Given the description of an element on the screen output the (x, y) to click on. 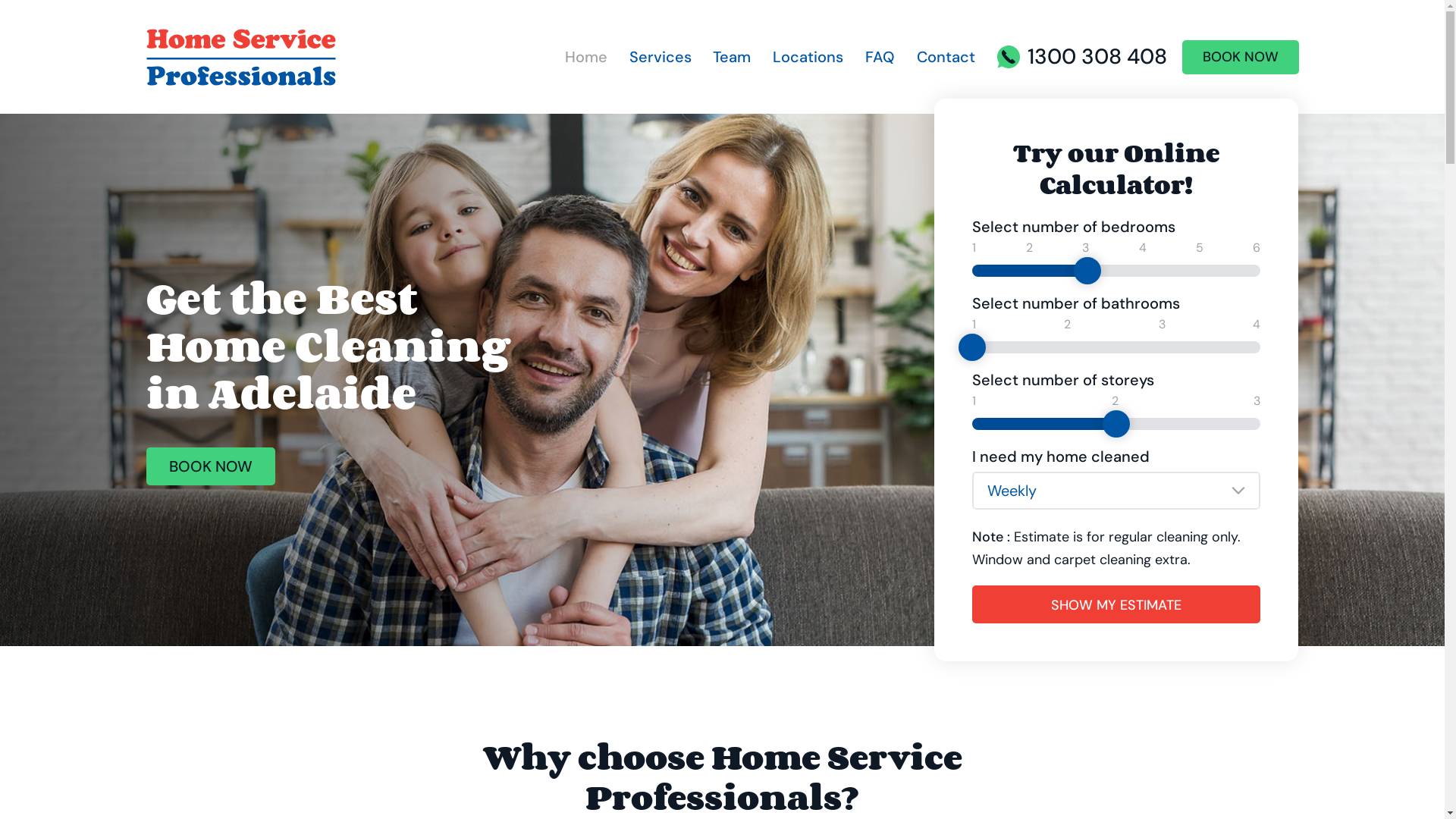
Home Element type: text (1338, 206)
Privacy Element type: text (1403, 733)
BOOK NOW Element type: text (209, 466)
SHOW MY ESTIMATE Element type: text (1116, 604)
Contact Element type: text (1338, 437)
Window Element type: text (997, 559)
Services Element type: text (660, 56)
Home Element type: text (585, 56)
Team Element type: text (731, 56)
Locations Element type: text (807, 56)
FAQ Element type: text (1338, 391)
1300 308 408 Element type: text (1081, 56)
BOOK NOW Element type: text (1239, 56)
carpet cleaning Element type: text (1102, 559)
Contact Element type: text (945, 56)
Team Element type: text (1338, 298)
Locations Element type: text (1338, 344)
Services Element type: text (1338, 252)
FAQ Element type: text (879, 56)
